Given the description of an element on the screen output the (x, y) to click on. 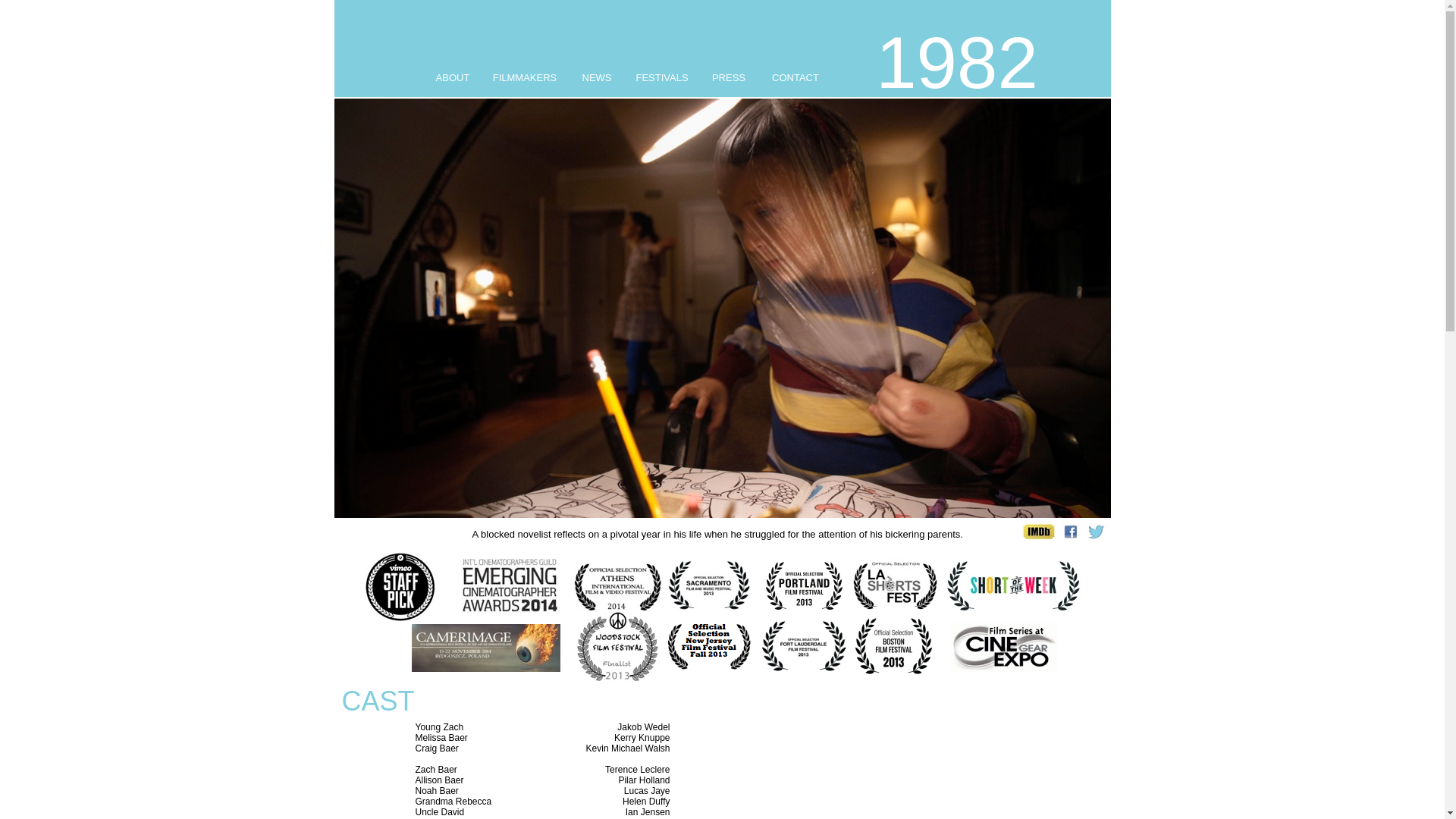
Helen Duffy Element type: text (645, 801)
FESTIVALS Element type: text (661, 77)
Pilar Holland Element type: text (643, 780)
CONTACT Element type: text (795, 77)
http://www.imdb.com/title/tt2948240/?ref_=fn_al_tt_2 Element type: hover (1038, 539)
Lucas Jaye Element type: text (647, 790)
https://www.facebook.com/1982short Element type: hover (1069, 539)
Ian Jensen Element type: text (647, 811)
Kevin Michael Walsh Element type: text (628, 748)
Terence Leclere Element type: text (637, 769)
FILMMAKERS Element type: text (524, 77)
Jakob Wedel Element type: text (643, 726)
ABOUT Element type: text (453, 77)
Kerry Knuppe Element type: text (641, 737)
https://twitter.com/1982short Element type: hover (1094, 539)
PRESS Element type: text (728, 77)
NEWS Element type: text (596, 77)
